Given the description of an element on the screen output the (x, y) to click on. 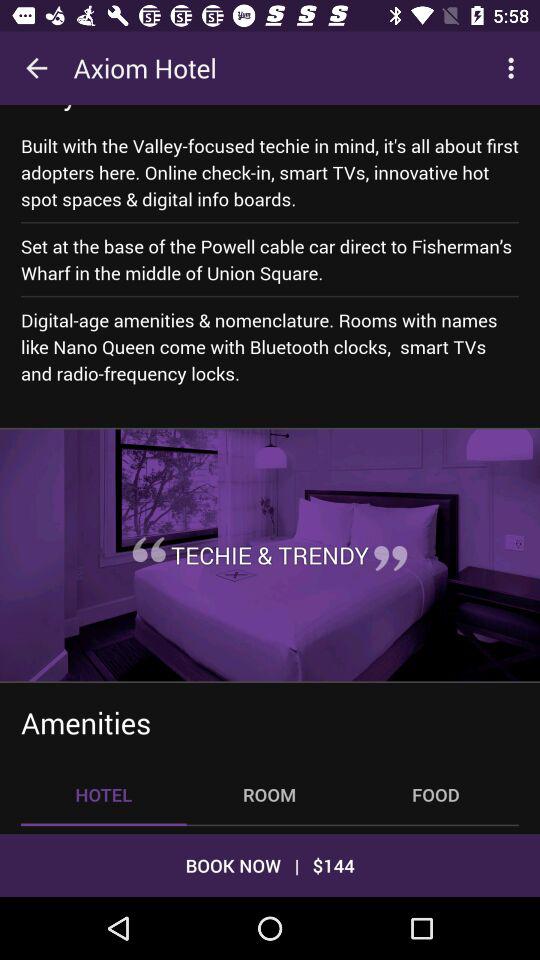
swipe to book now   |   $144 icon (270, 864)
